Given the description of an element on the screen output the (x, y) to click on. 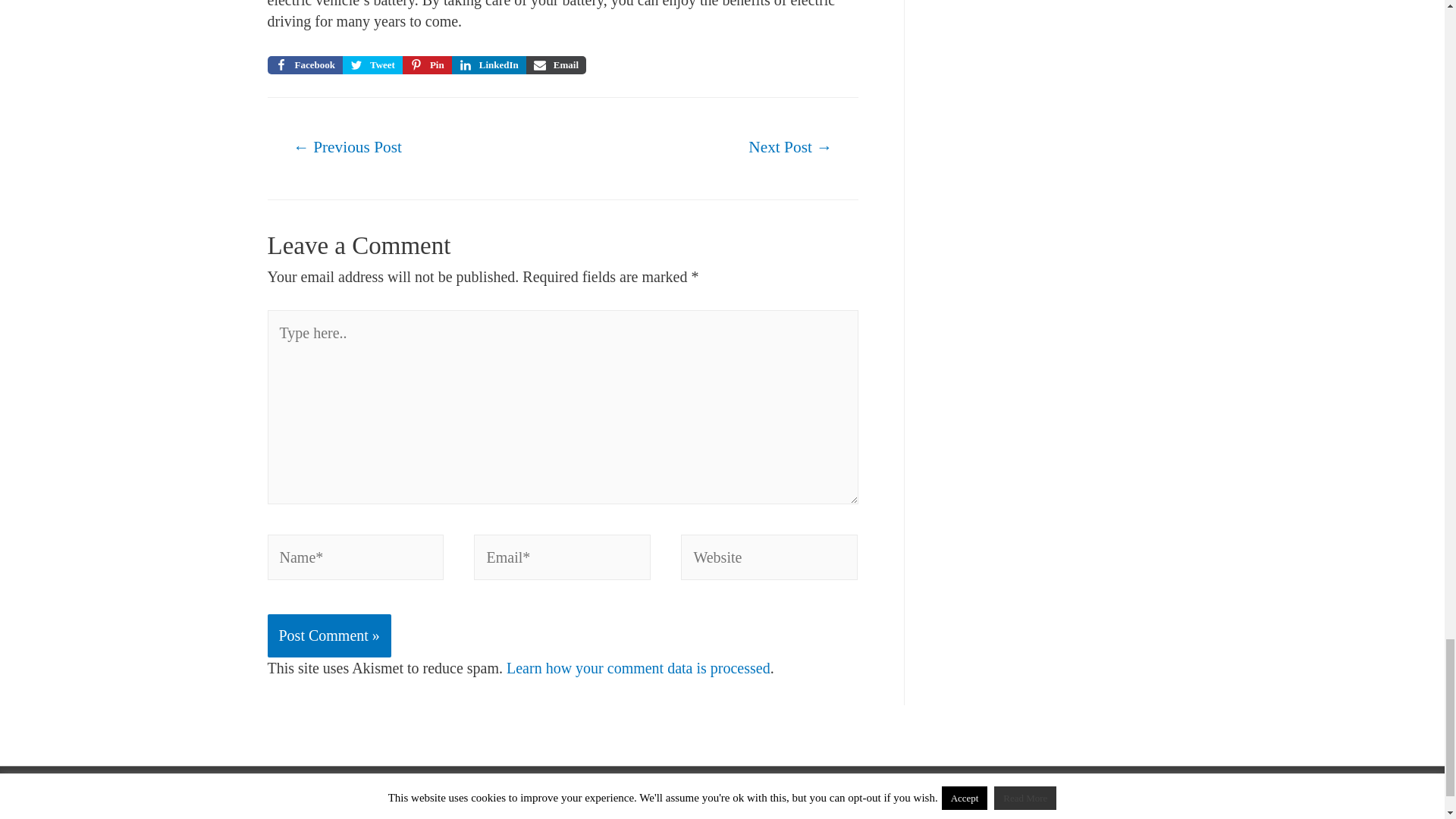
Share on Pinterest (427, 65)
Email (555, 65)
Share on Twitter (372, 65)
Share on LinkedIn (488, 65)
Share via Email (555, 65)
Share on Facebook (304, 65)
